Given the description of an element on the screen output the (x, y) to click on. 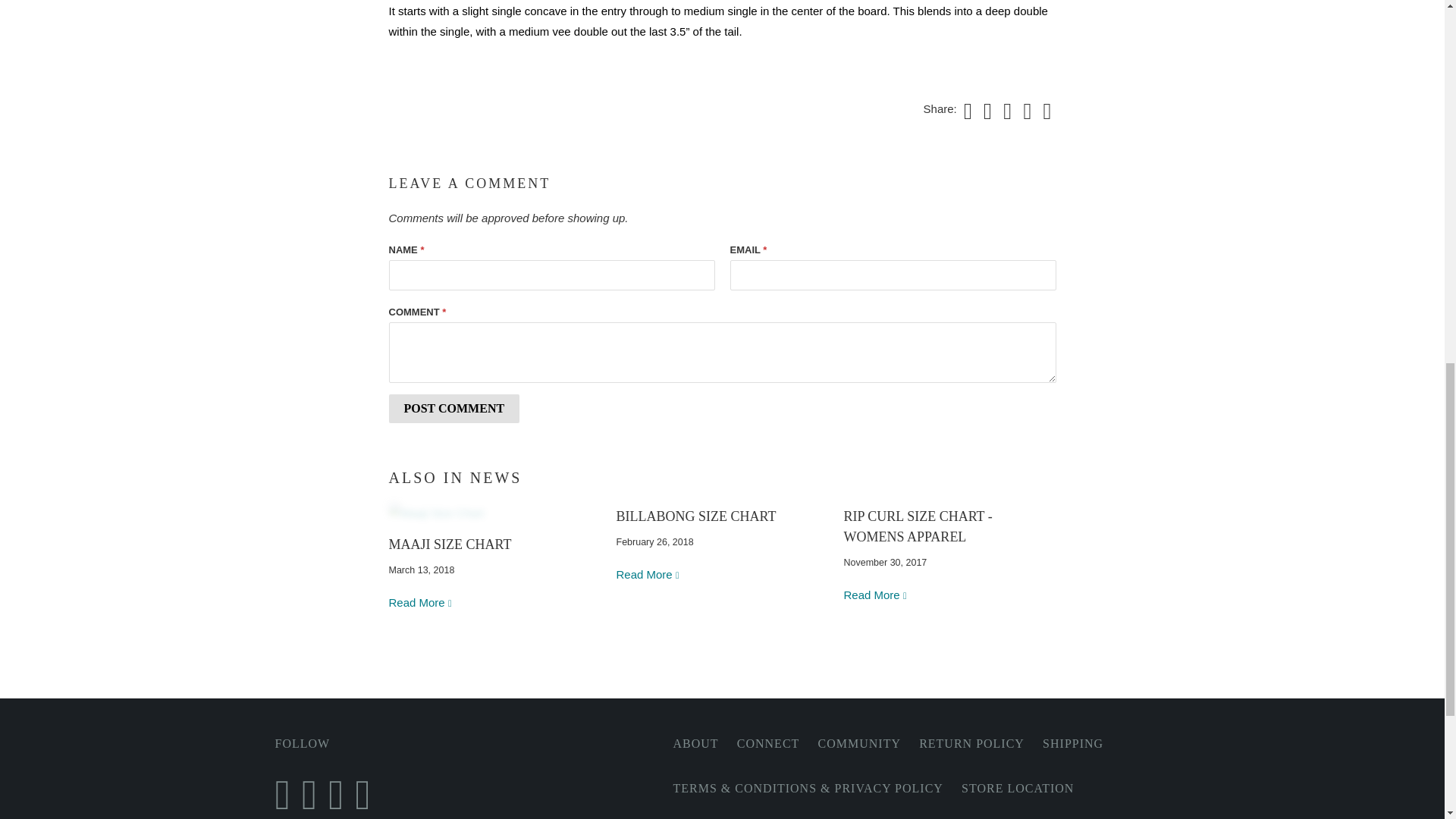
Maaji Size Chart (493, 512)
Maaji Size Chart (449, 544)
Post comment (453, 408)
Rip Curl Size Chart - Womens Apparel (875, 594)
Maaji Size Chart (420, 602)
Billabong Size Chart (695, 516)
Rip Curl Size Chart - Womens Apparel (917, 526)
Billabong Size Chart (647, 574)
